Given the description of an element on the screen output the (x, y) to click on. 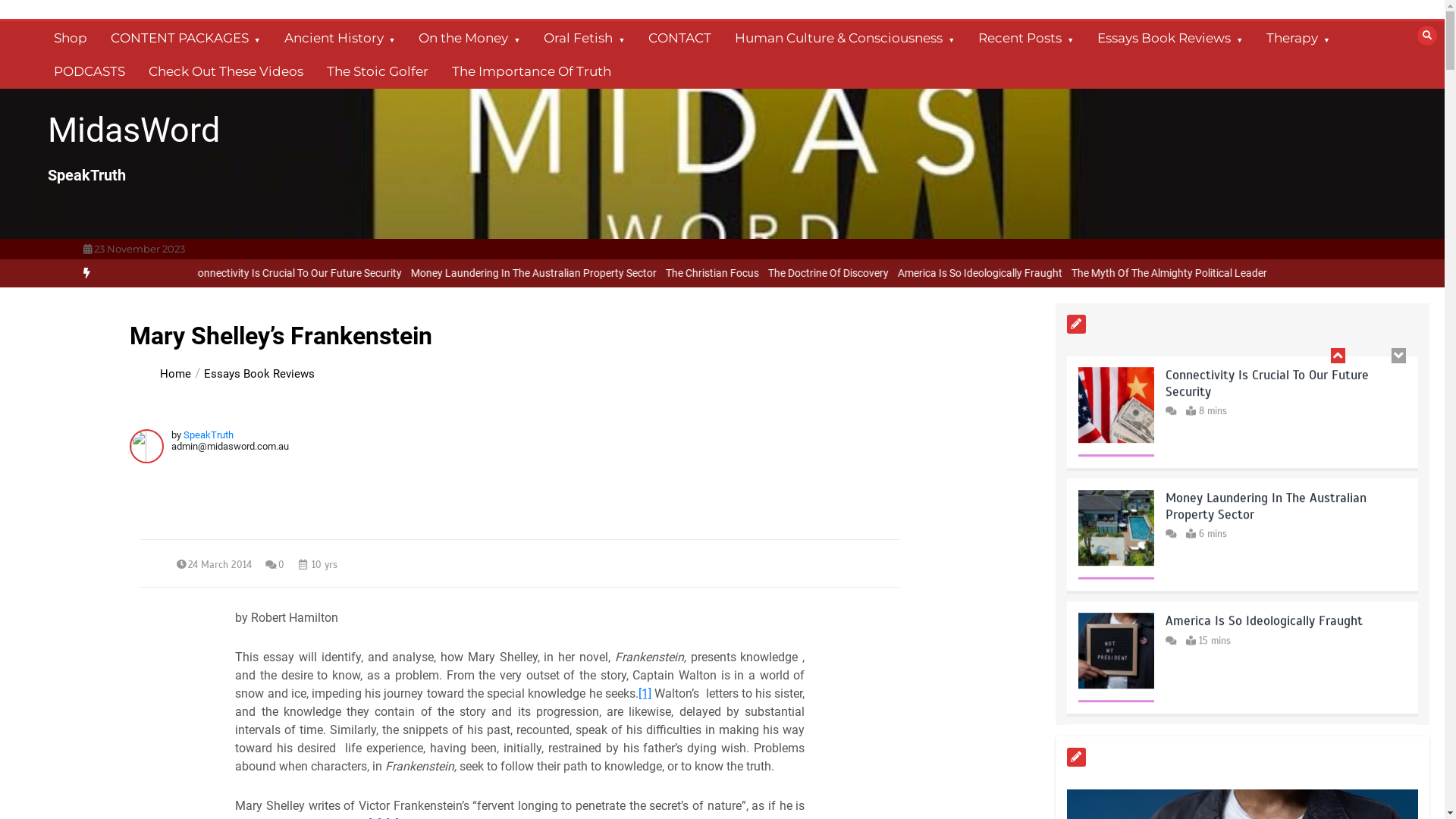
America Is So Ideologically Fraught Element type: text (1263, 498)
Connectivity Is Crucial To Our Future Security Element type: text (861, 272)
Money Laundering In The Australian Property Sector Element type: text (1099, 272)
The Christian Focus Element type: text (196, 272)
Oral Fetish Element type: text (583, 37)
Ancient History Element type: text (339, 37)
Human Culture & Consciousness Element type: text (844, 37)
0 Element type: text (274, 564)
PODCASTS Element type: text (89, 70)
The Doctrine Of Discovery Element type: text (1392, 272)
Therapy Element type: text (1298, 37)
Recent Posts Element type: text (1025, 37)
CONTENT PACKAGES Element type: text (185, 37)
The Myth Of The Almighty Political Leader Element type: text (1282, 621)
Essays Book Reviews Element type: text (258, 373)
The Myth Of The Almighty Political Leader Element type: text (650, 272)
Shop Element type: text (70, 37)
On the Money Element type: text (469, 37)
Essays Book Reviews Element type: text (1169, 37)
The Doctrine Of Discovery Element type: text (311, 272)
CONTACT Element type: text (679, 37)
[1] Element type: text (644, 693)
Check Out These Videos Element type: text (225, 70)
Home Element type: text (175, 373)
SpeakTruth Element type: text (208, 434)
The Importance Of Truth Element type: text (531, 70)
The Stoic Golfer Element type: text (377, 70)
America Is So Ideologically Fraught Element type: text (461, 272)
The Christian Focus Element type: text (1277, 272)
MidasWord Element type: text (133, 129)
24 March 2014 Element type: text (219, 564)
Money Laundering In The Australian Property Sector Element type: text (1265, 383)
